Given the description of an element on the screen output the (x, y) to click on. 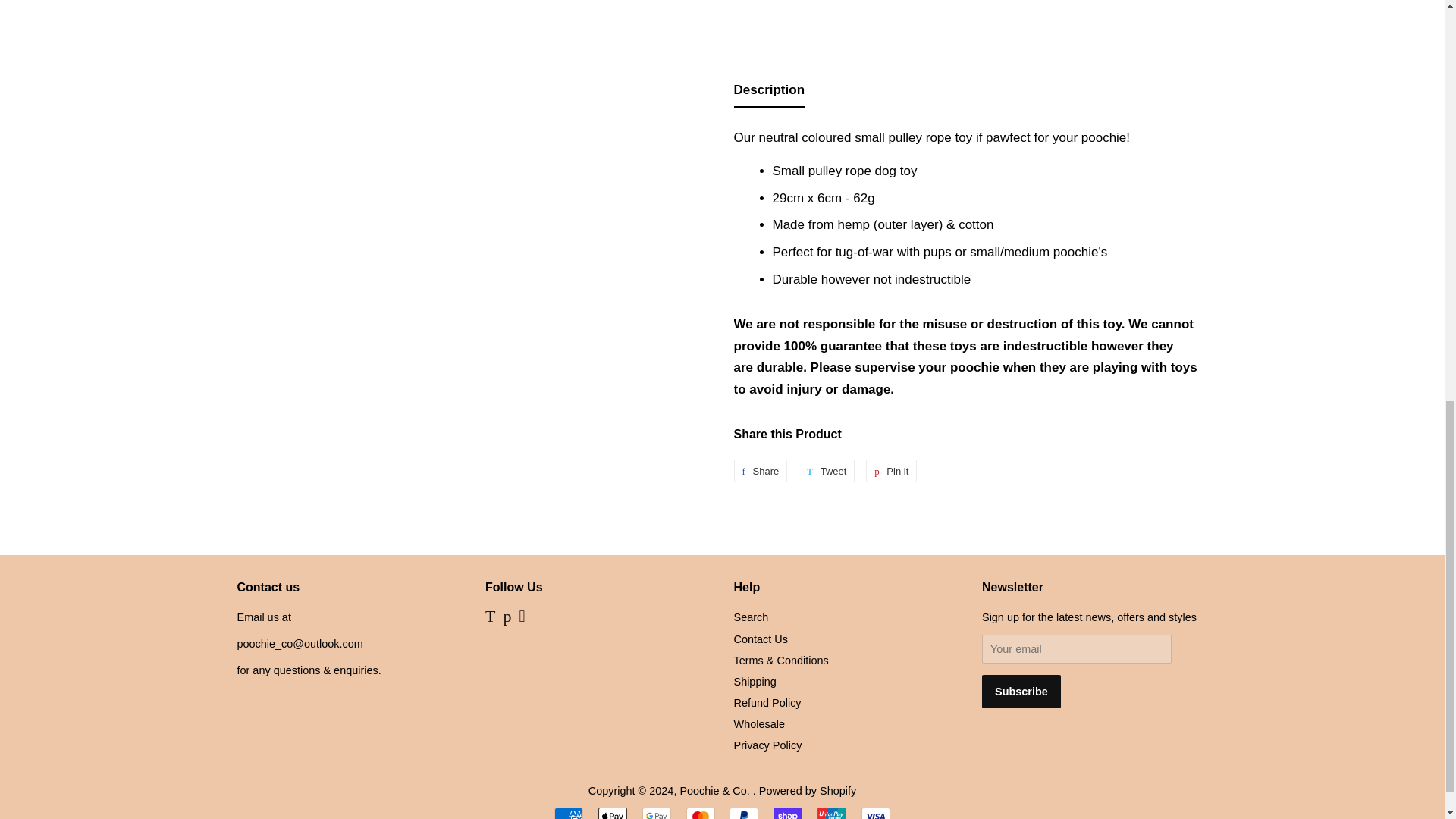
Apple Pay (612, 813)
Mastercard (699, 813)
American Express (568, 813)
Subscribe (1021, 691)
Shop Pay (787, 813)
Tweet on Twitter (825, 470)
PayPal (743, 813)
Visa (875, 813)
Union Pay (830, 813)
Google Pay (656, 813)
